Given the description of an element on the screen output the (x, y) to click on. 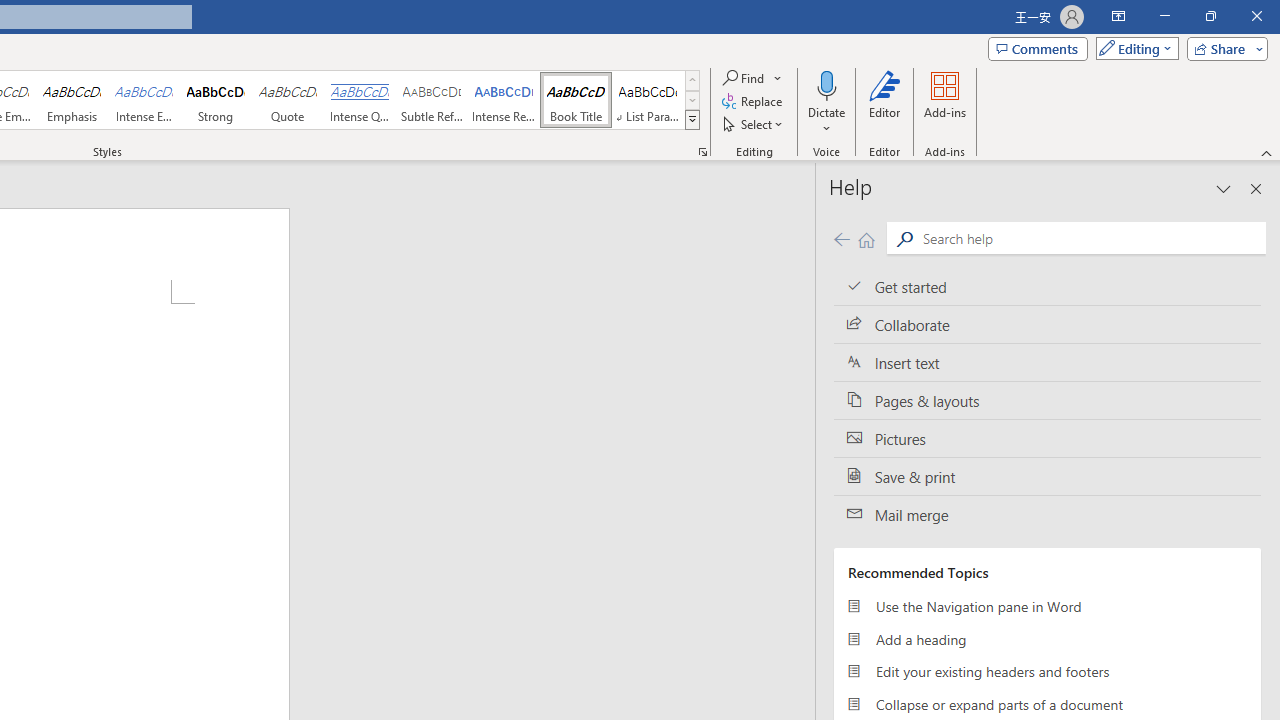
Pages & layouts (1047, 400)
Insert text (1047, 363)
Collaborate (1047, 325)
Collapse or expand parts of a document (1047, 704)
Intense Reference (504, 100)
